Given the description of an element on the screen output the (x, y) to click on. 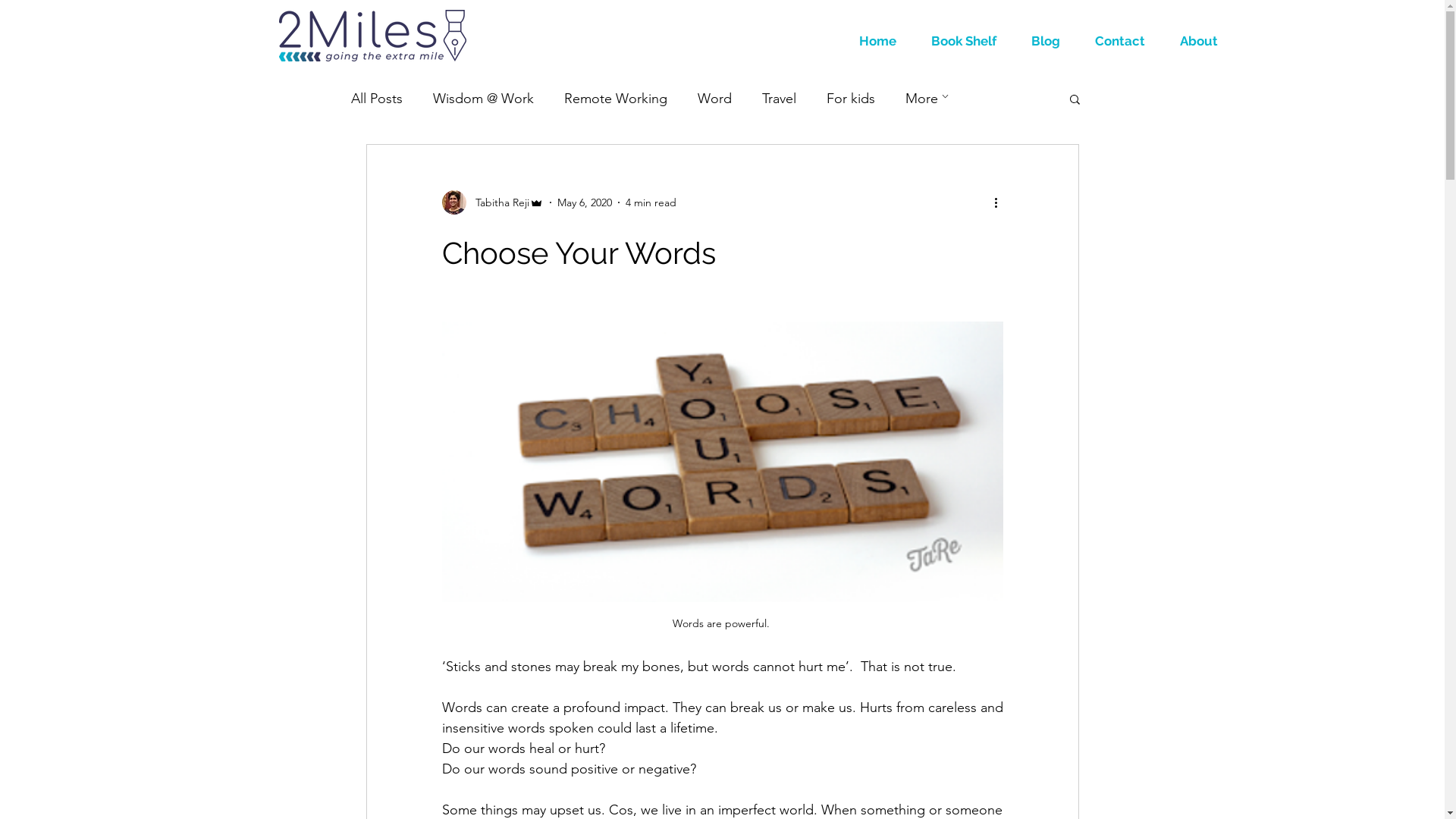
About Element type: text (1198, 40)
Tabitha Reji Element type: text (491, 202)
Contact Element type: text (1119, 40)
For kids Element type: text (850, 98)
Word Element type: text (714, 98)
Blog Element type: text (1045, 40)
Wisdom @ Work Element type: text (482, 98)
All Posts Element type: text (375, 98)
Book Shelf Element type: text (963, 40)
Travel Element type: text (778, 98)
Home Element type: text (877, 40)
Remote Working Element type: text (615, 98)
